Given the description of an element on the screen output the (x, y) to click on. 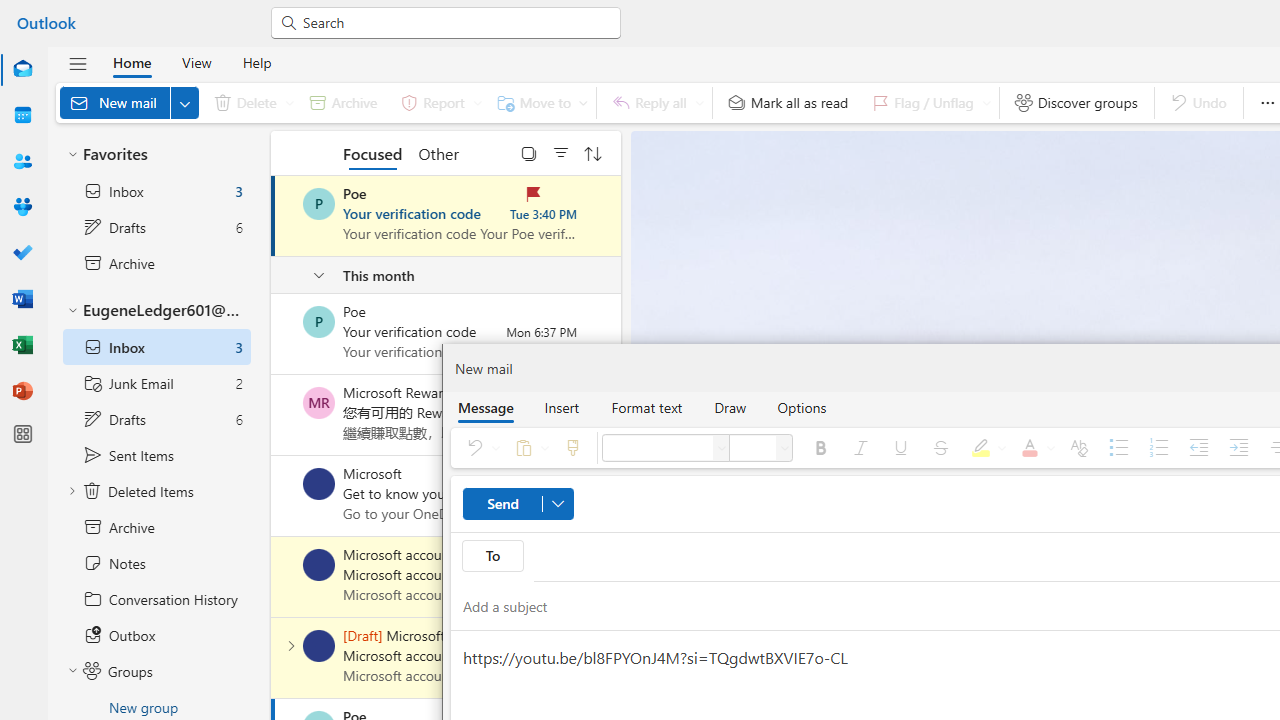
Focused (372, 152)
To Do (22, 254)
Calendar (22, 115)
Font size (784, 448)
Expand to see flag options (985, 102)
Report (437, 102)
Send (518, 503)
Search for email, meetings, files and more. (454, 21)
New mail (129, 102)
Strikethrough (941, 447)
Excel (22, 345)
Expand to see more respond options (699, 102)
Select a conversation (319, 645)
Other (438, 152)
Discover groups (1076, 102)
